Given the description of an element on the screen output the (x, y) to click on. 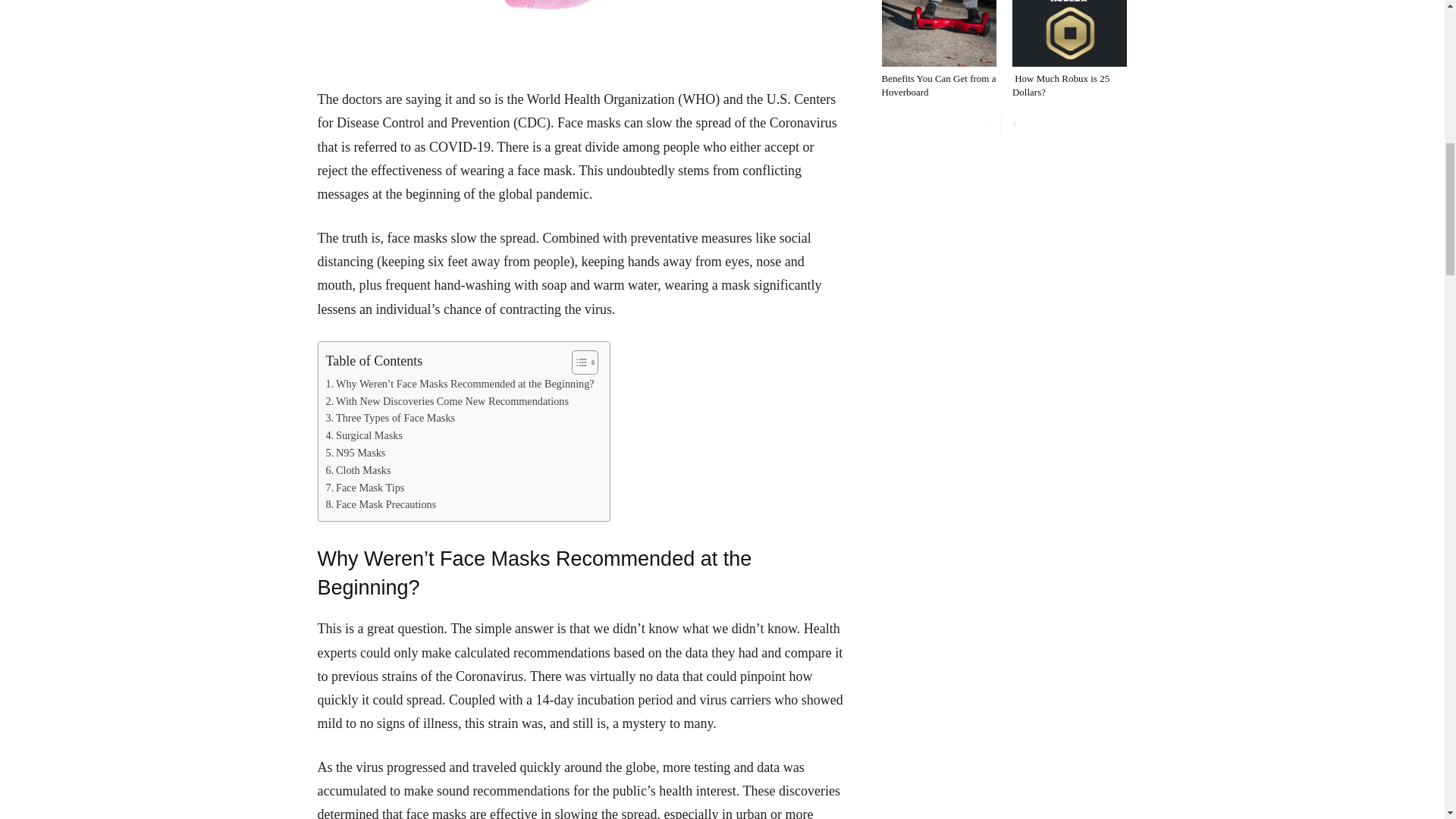
N95 Masks (355, 452)
With New Discoveries Come New Recommendations (447, 401)
Surgical Masks (364, 435)
Three Types of Face Masks (390, 417)
